Given the description of an element on the screen output the (x, y) to click on. 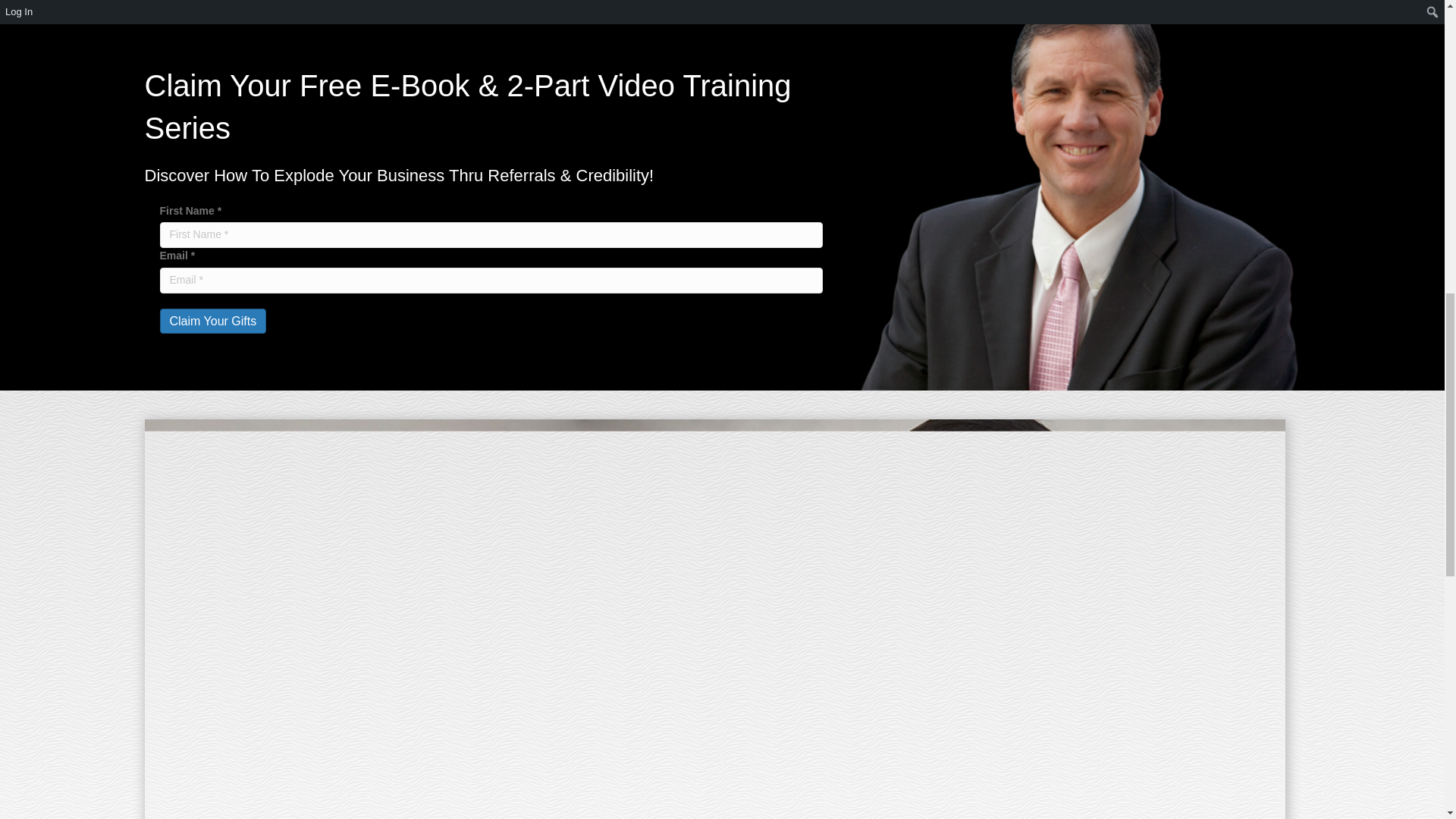
Claim Your Gifts (212, 320)
